Given the description of an element on the screen output the (x, y) to click on. 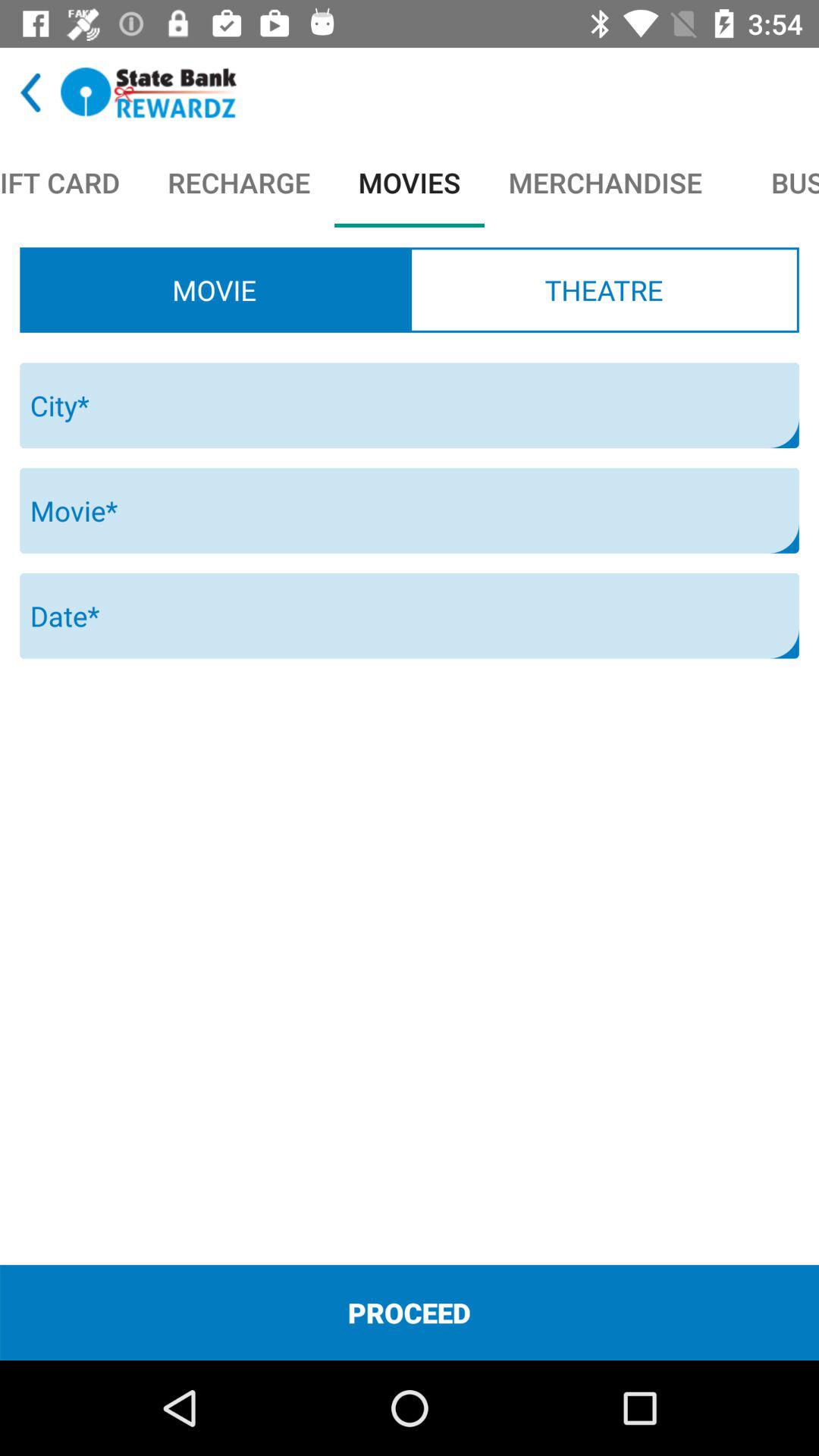
place to enter city (409, 405)
